Given the description of an element on the screen output the (x, y) to click on. 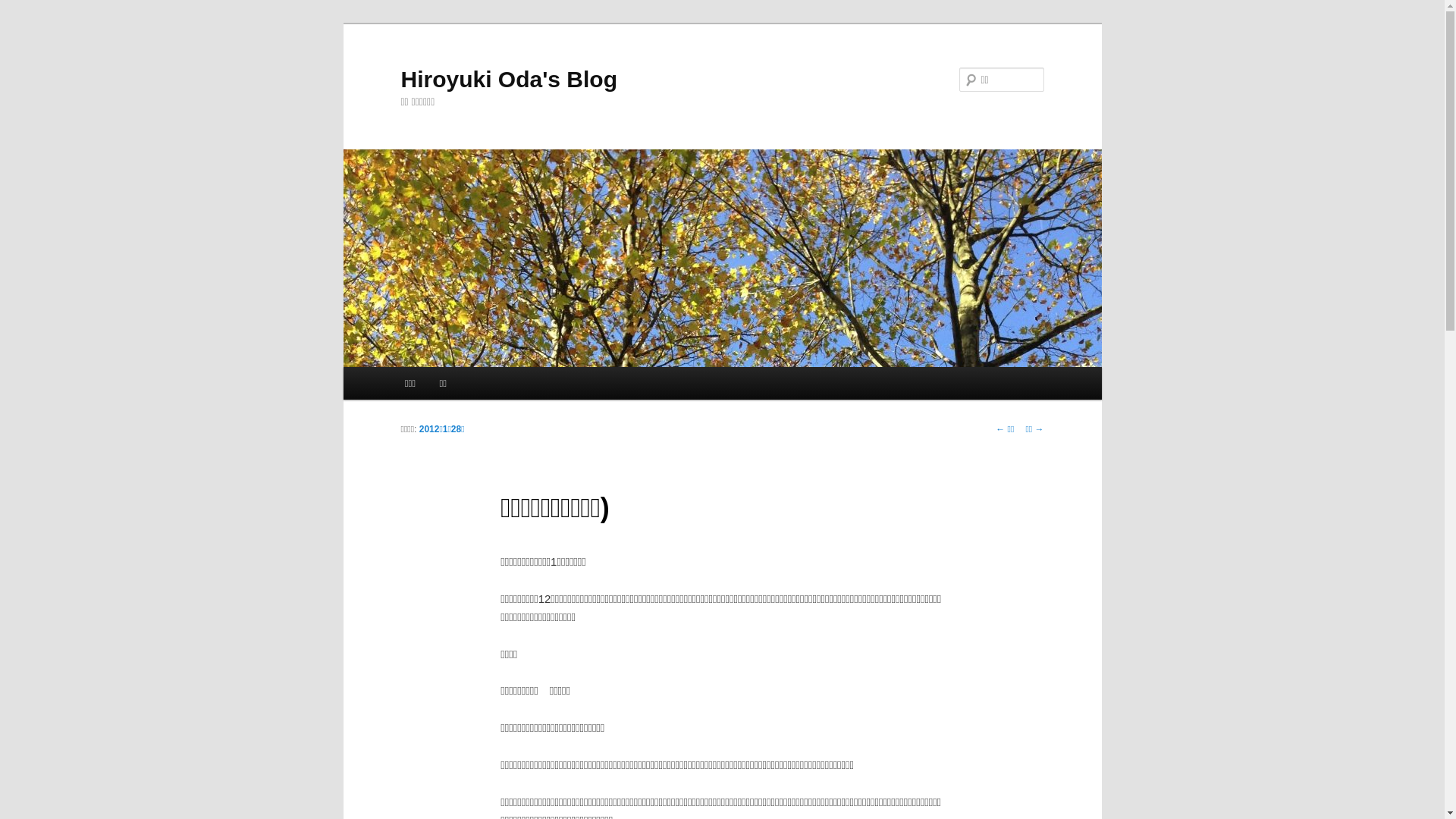
Hiroyuki Oda's Blog Element type: text (508, 78)
